Given the description of an element on the screen output the (x, y) to click on. 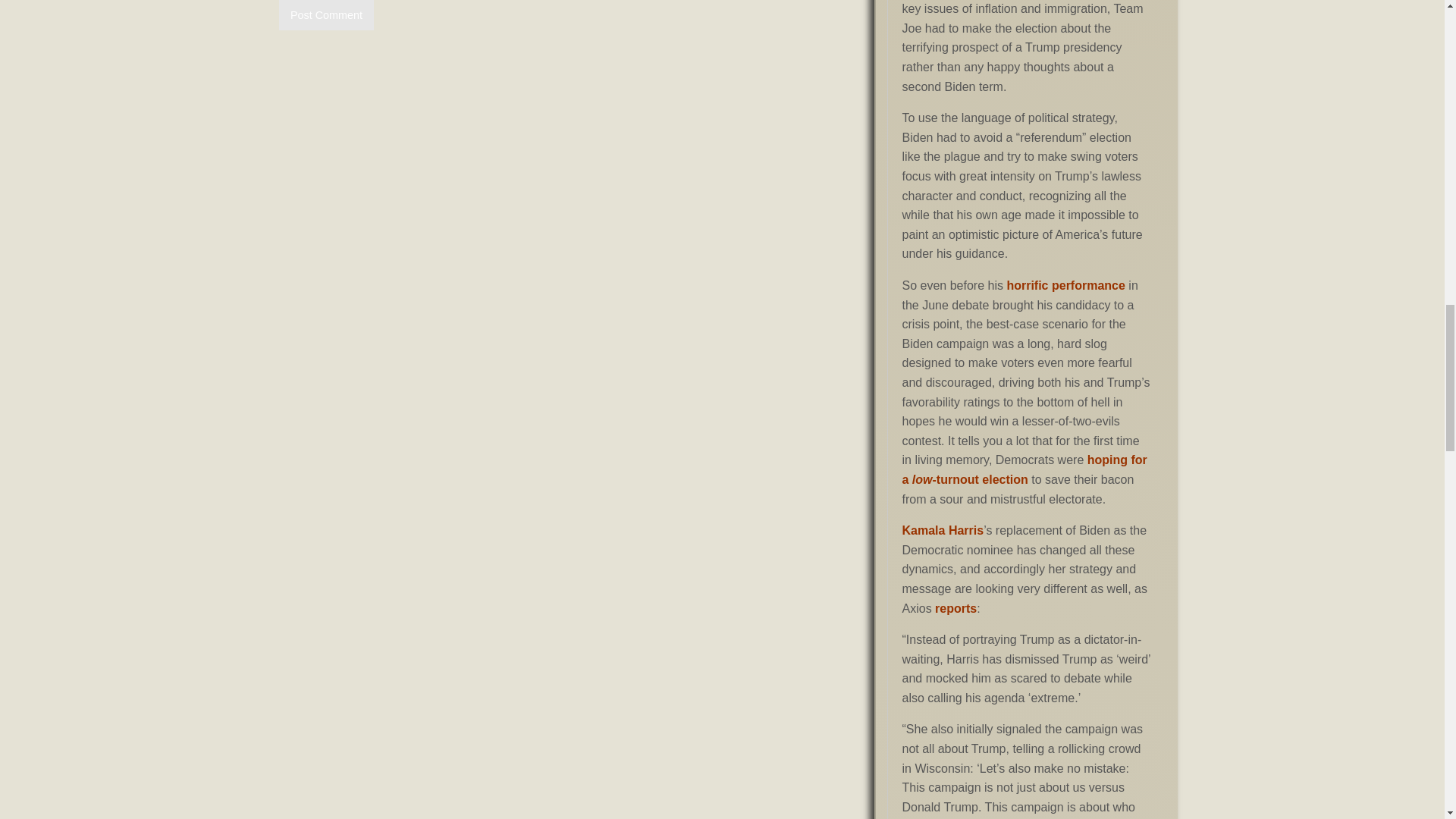
Post Comment (326, 15)
Post Comment (326, 15)
horrific performance (1065, 285)
